Given the description of an element on the screen output the (x, y) to click on. 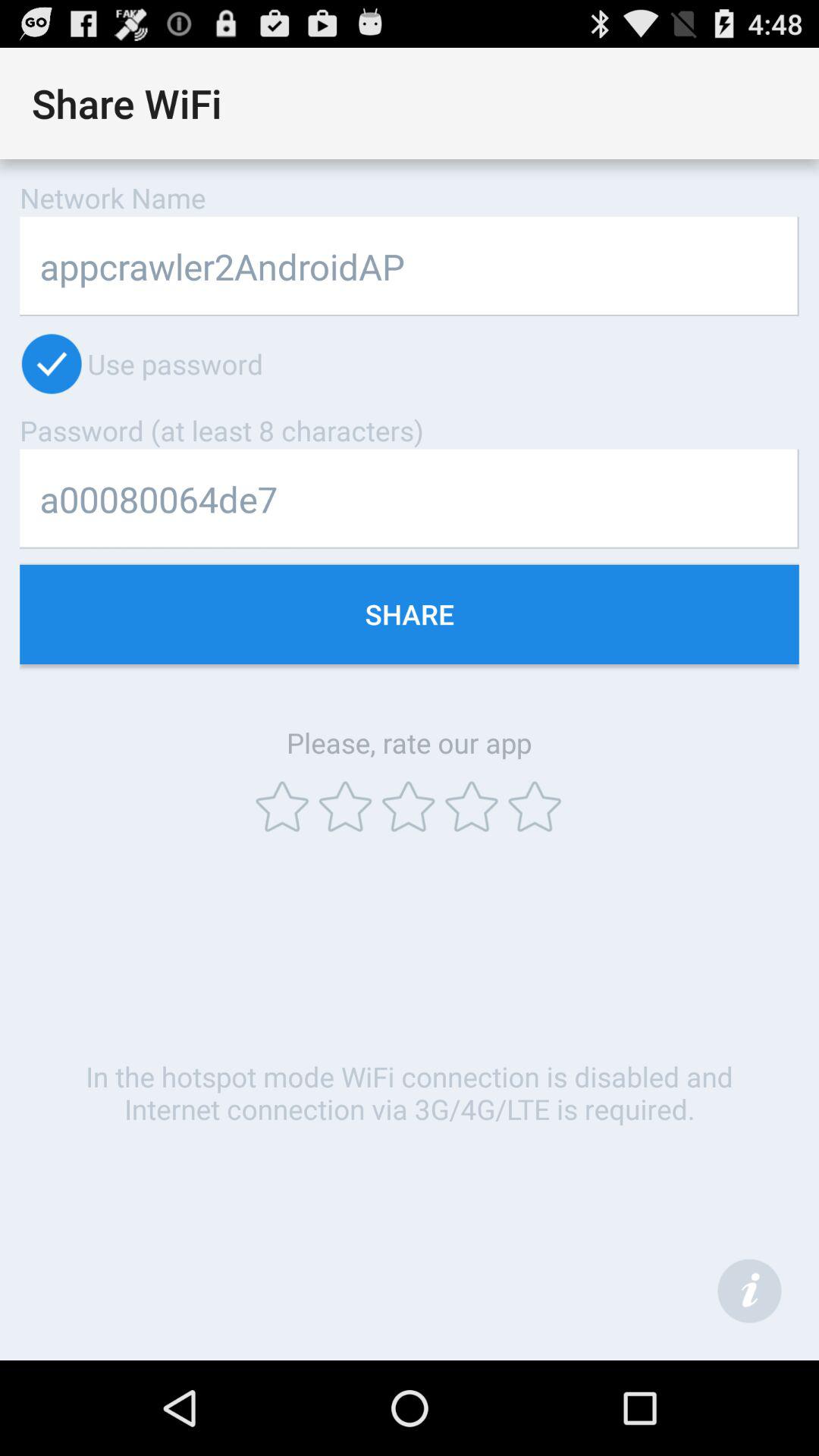
tap the icon at the bottom right corner (749, 1290)
